Given the description of an element on the screen output the (x, y) to click on. 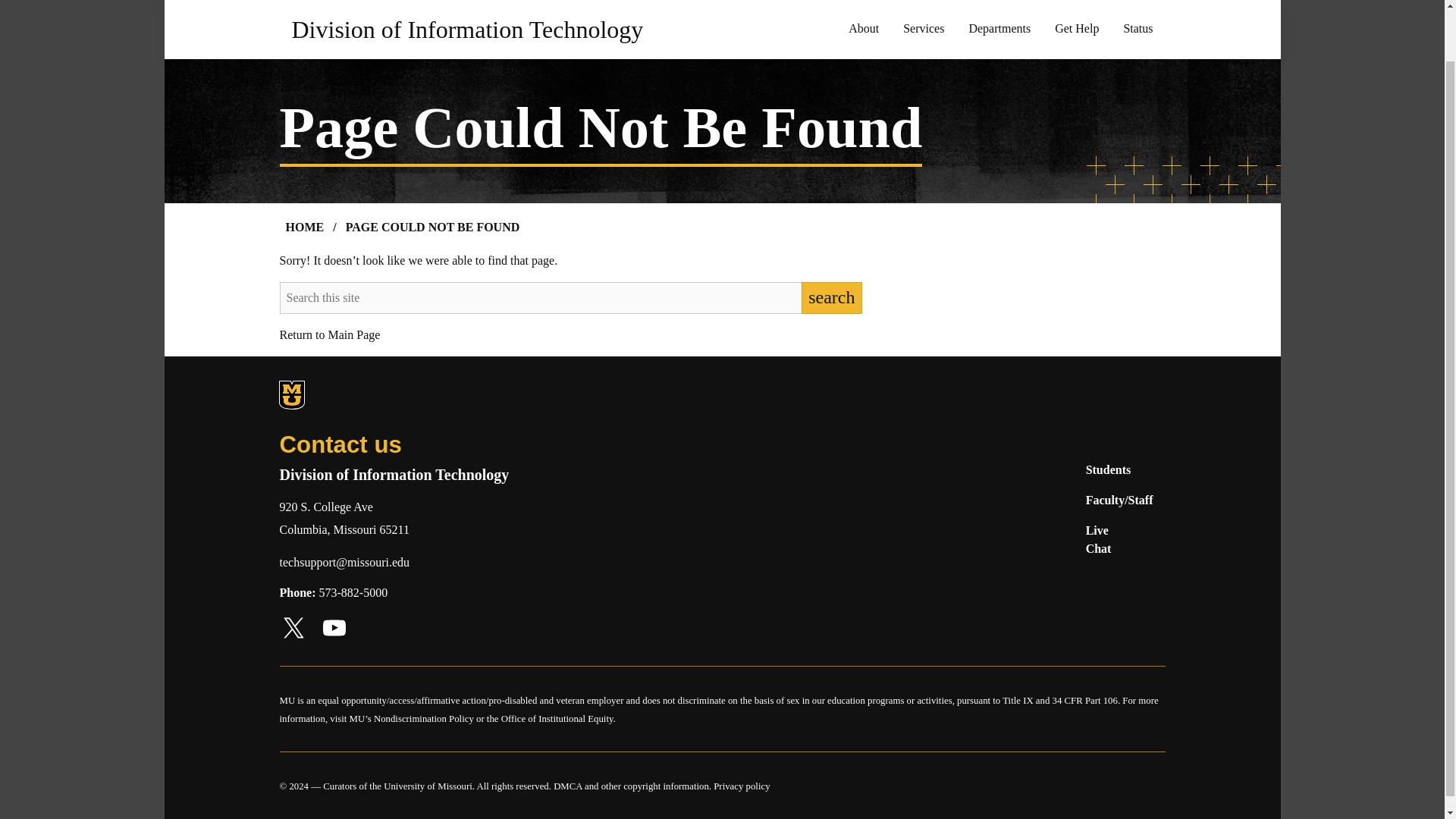
Privacy policy (741, 786)
Division of Information Technology (467, 29)
University of Missouri (427, 786)
Departments (999, 29)
University of Missouri (397, 395)
Live Chat (1099, 539)
MU Logo (291, 394)
Return to Main Page (329, 334)
DMCA and other copyright information (631, 786)
search (831, 297)
About (863, 29)
YouTube (333, 627)
Students (1108, 470)
Services (923, 29)
Status (1137, 29)
